Given the description of an element on the screen output the (x, y) to click on. 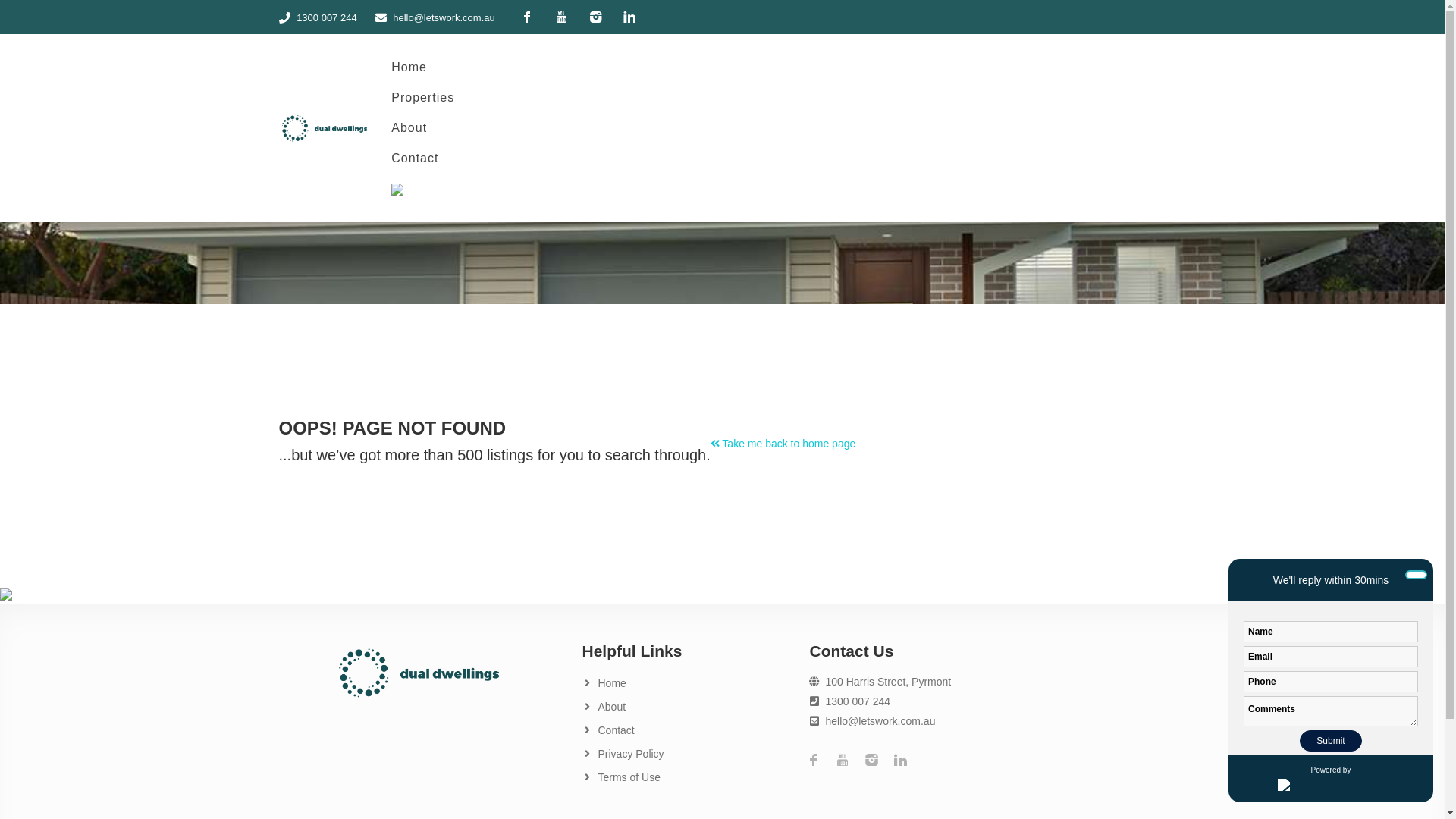
Privacy Policy Element type: text (630, 753)
Contact Element type: text (422, 158)
1300 007 244 Element type: text (326, 17)
Properties Element type: text (422, 97)
Contact Element type: text (615, 730)
100 Harris Street, Pyrmont Element type: text (887, 681)
About Element type: text (422, 128)
Home Element type: text (422, 67)
hello@letswork.com.au Element type: text (443, 17)
About Element type: text (611, 706)
Terms of Use Element type: text (628, 777)
Home Element type: text (611, 683)
Submit Element type: text (1330, 740)
Take me back to home page Element type: text (783, 443)
hello@letswork.com.au Element type: text (880, 721)
1300 007 244 Element type: text (857, 701)
